Given the description of an element on the screen output the (x, y) to click on. 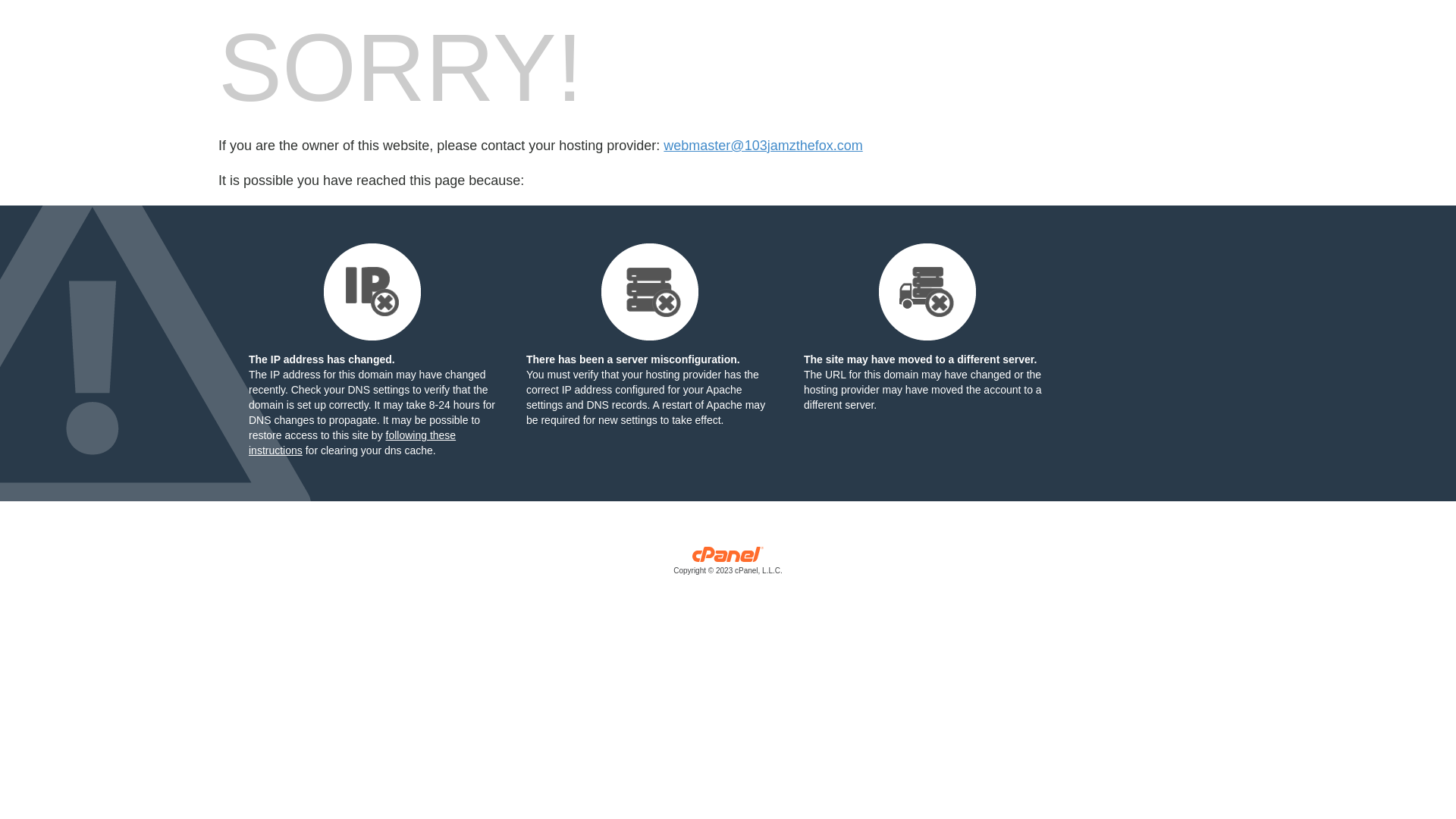
webmaster@103jamzthefox.com Element type: text (762, 145)
following these instructions Element type: text (351, 442)
